Given the description of an element on the screen output the (x, y) to click on. 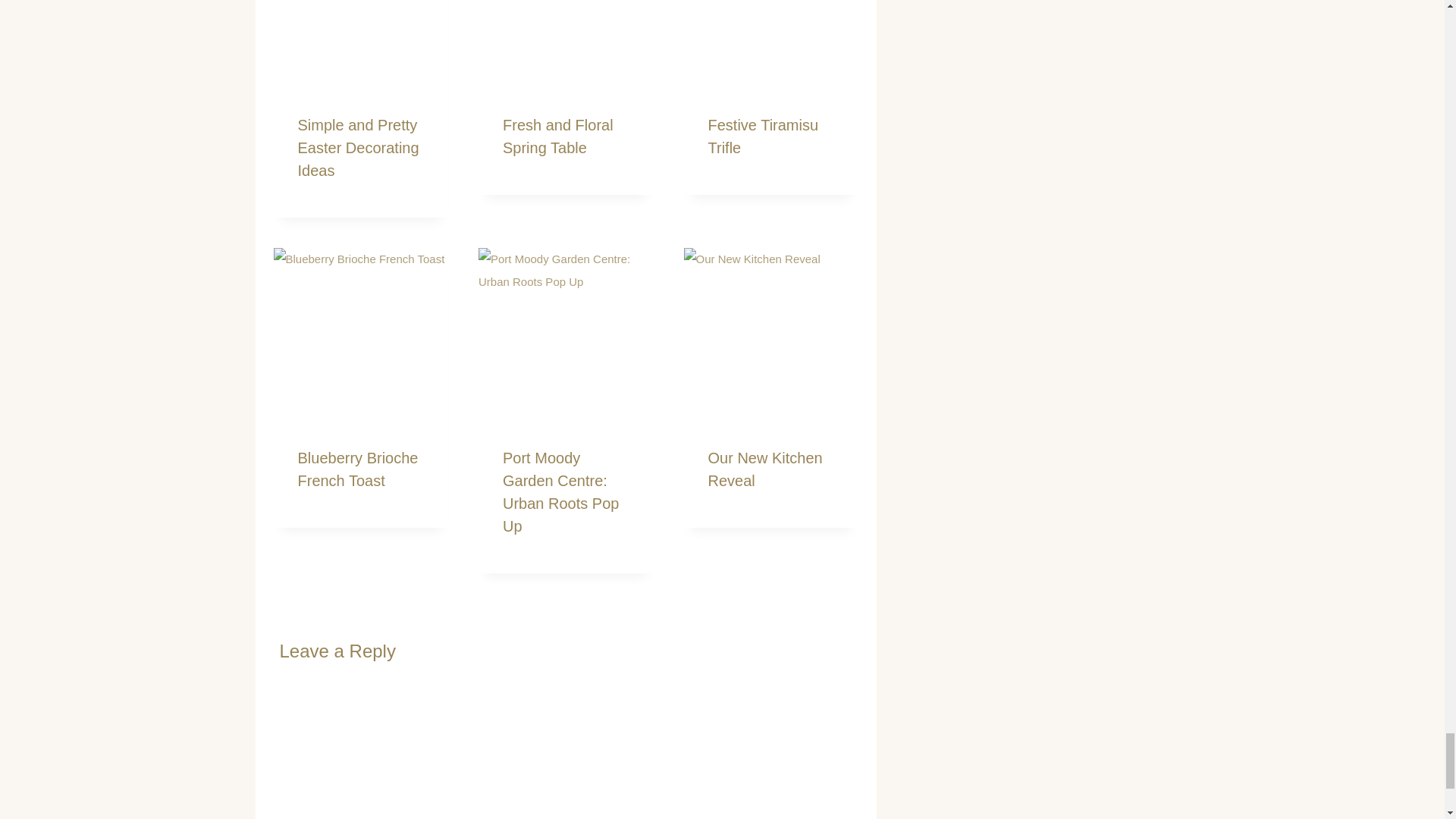
Comment Form (565, 751)
Simple and Pretty Easter Decorating Ideas (358, 148)
